Given the description of an element on the screen output the (x, y) to click on. 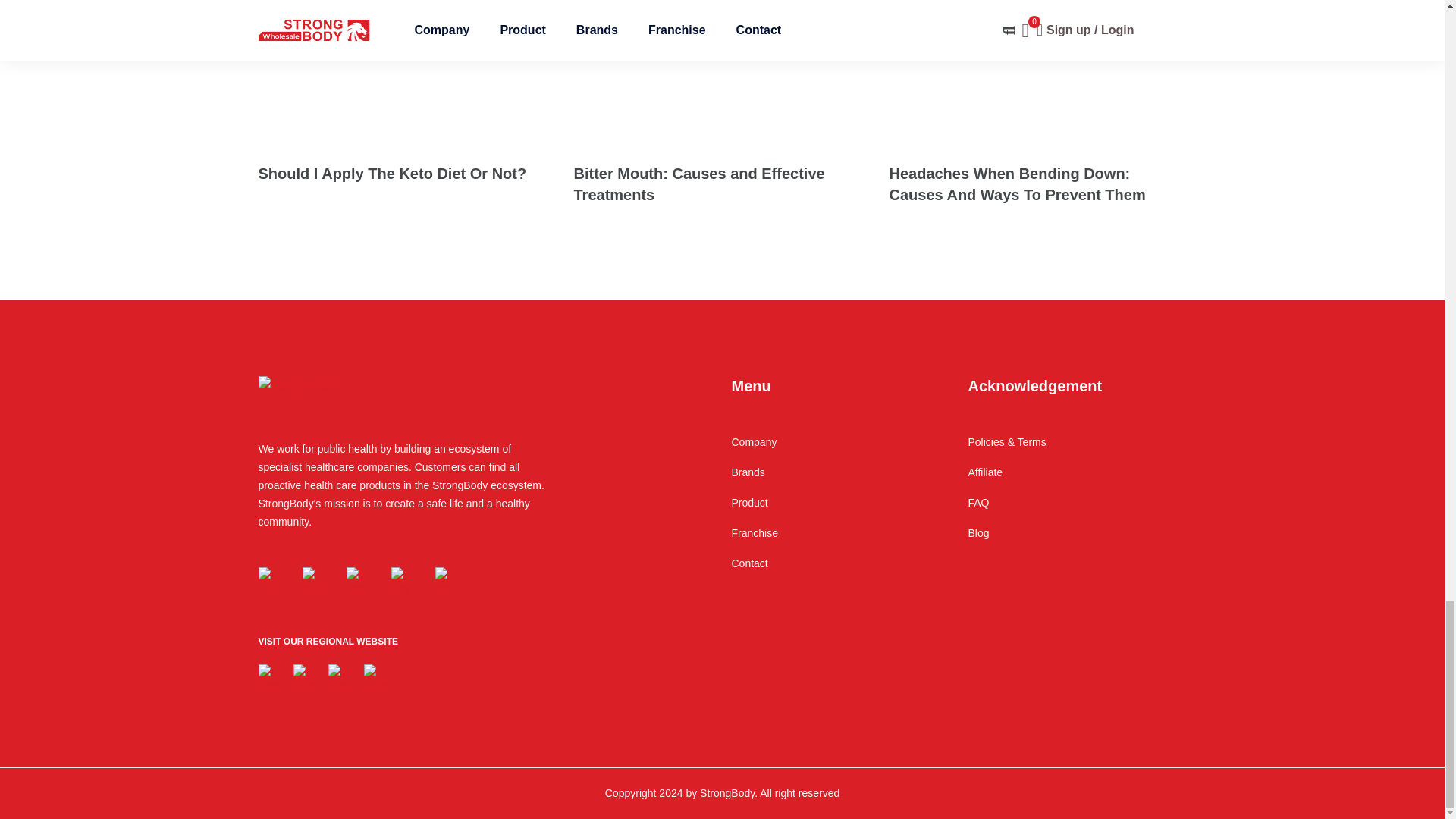
Should I Apply The Keto Diet Or Not? (405, 185)
Franchise (839, 540)
Blog (1077, 540)
Should I Apply The Keto Diet Or Not? (363, 11)
FAQ (1077, 510)
StrongBody (295, 386)
Headaches When Bending Down: Causes And Ways To Prevent Them (1037, 21)
Bitter Mouth: Causes and Effective Treatments (704, 11)
Contact (839, 571)
Headaches When Bending Down: Causes And Ways To Prevent Them (1037, 185)
Affiliate (1077, 480)
Company (839, 449)
Brands (839, 480)
Bitter Mouth: Causes and Effective Treatments (721, 185)
Product (839, 510)
